Given the description of an element on the screen output the (x, y) to click on. 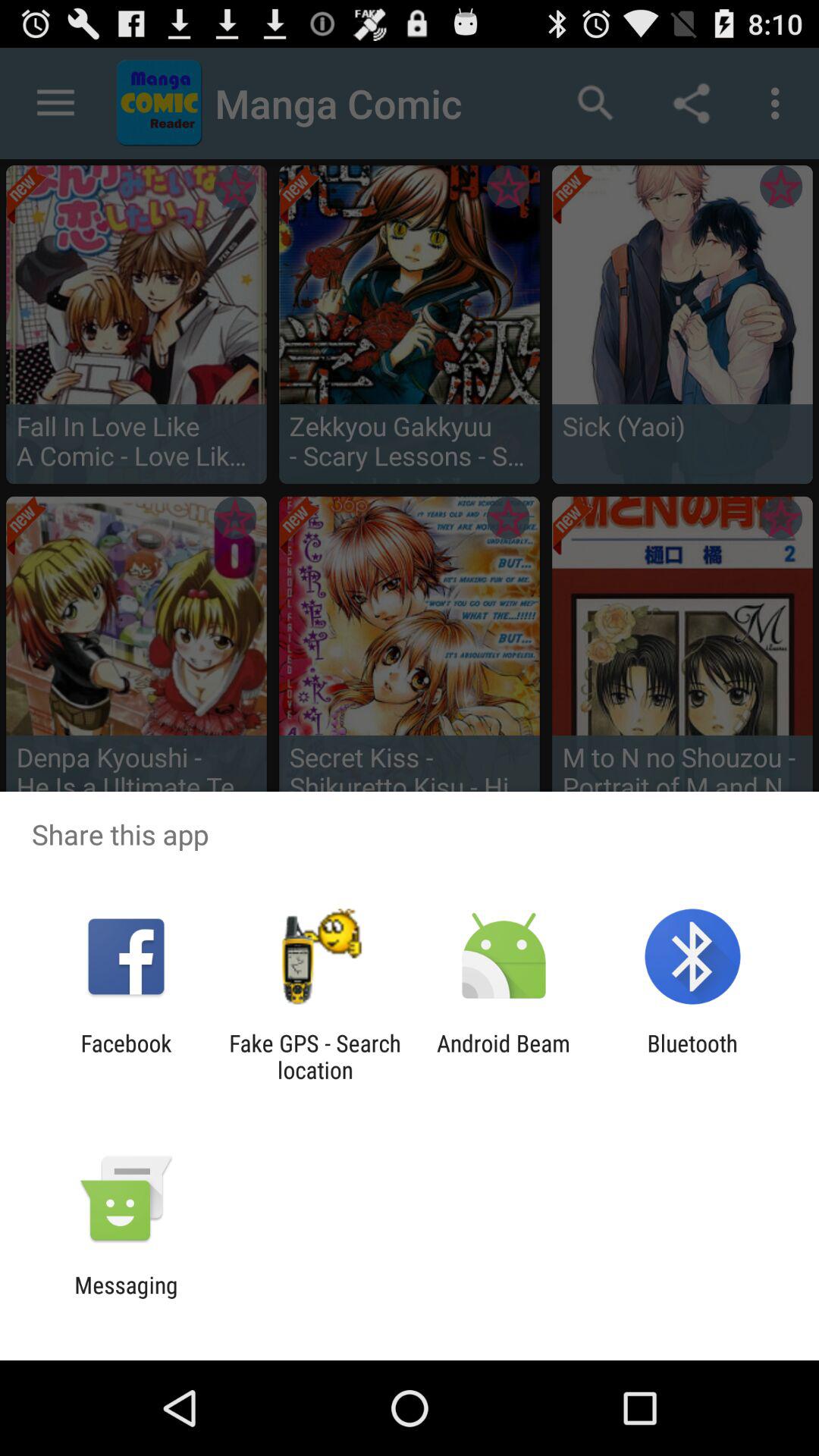
press icon to the left of android beam icon (314, 1056)
